Given the description of an element on the screen output the (x, y) to click on. 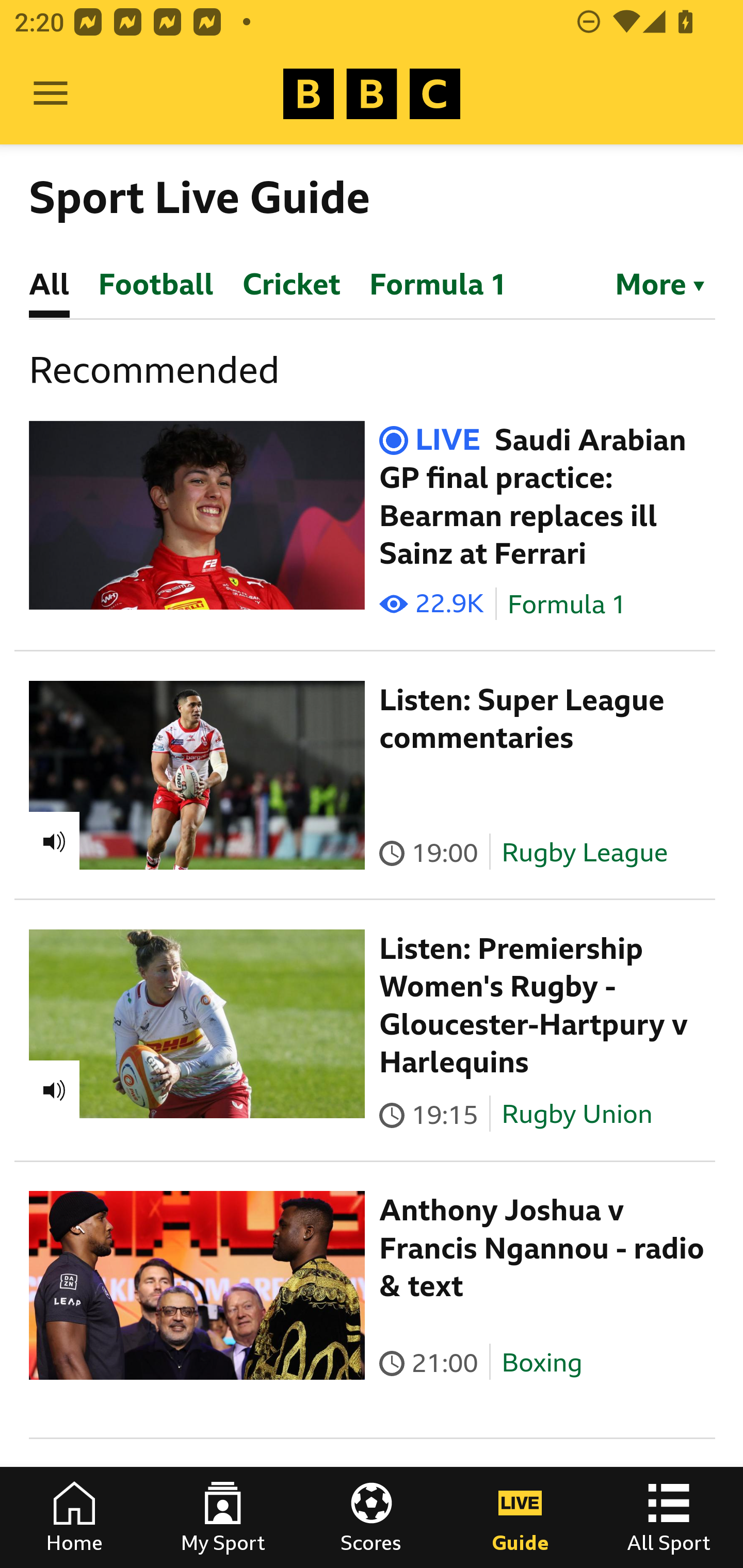
Open Menu (50, 93)
Formula 1 (566, 604)
Listen: Super League commentaries (522, 718)
Rugby League (584, 851)
Rugby Union (576, 1113)
Anthony Joshua v Francis Ngannou - radio & text (541, 1248)
Boxing (541, 1362)
Home (74, 1517)
My Sport (222, 1517)
Scores (371, 1517)
All Sport (668, 1517)
